Given the description of an element on the screen output the (x, y) to click on. 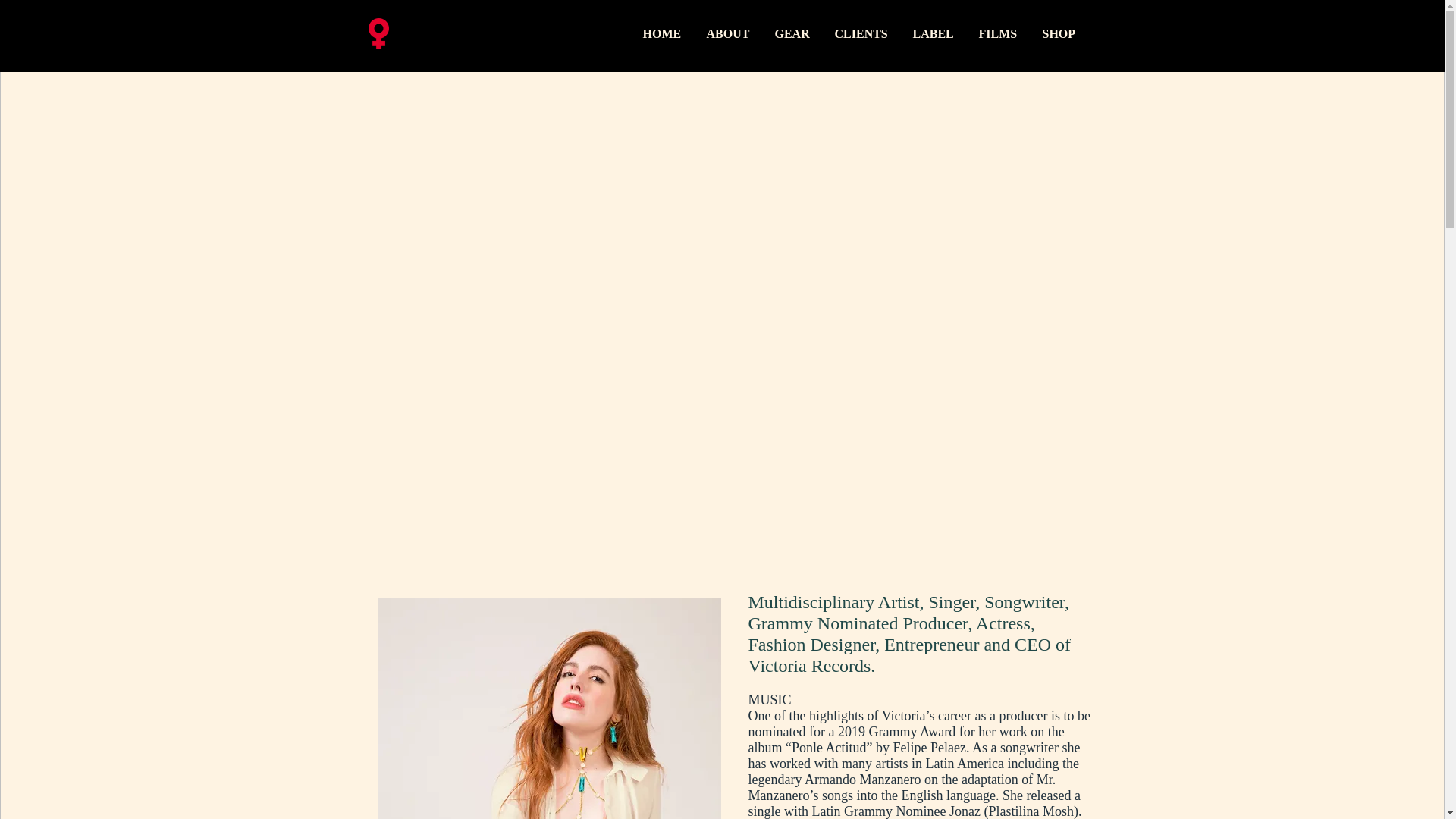
ABOUT (728, 33)
CLIENTS (862, 33)
LABEL (933, 33)
GEAR (792, 33)
HOME (662, 33)
SHOP (1059, 33)
FILMS (999, 33)
